Given the description of an element on the screen output the (x, y) to click on. 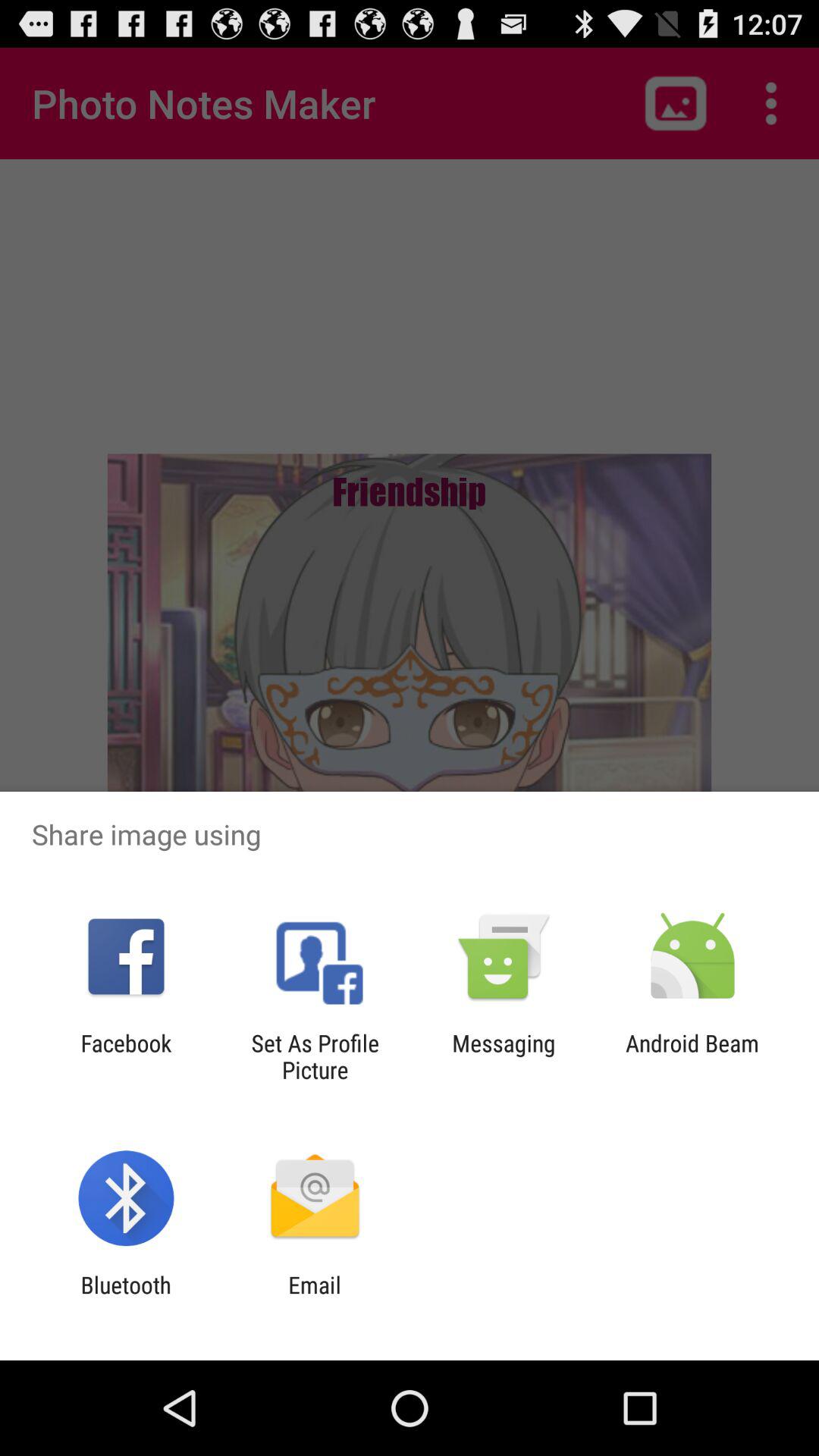
flip to the messaging app (503, 1056)
